Given the description of an element on the screen output the (x, y) to click on. 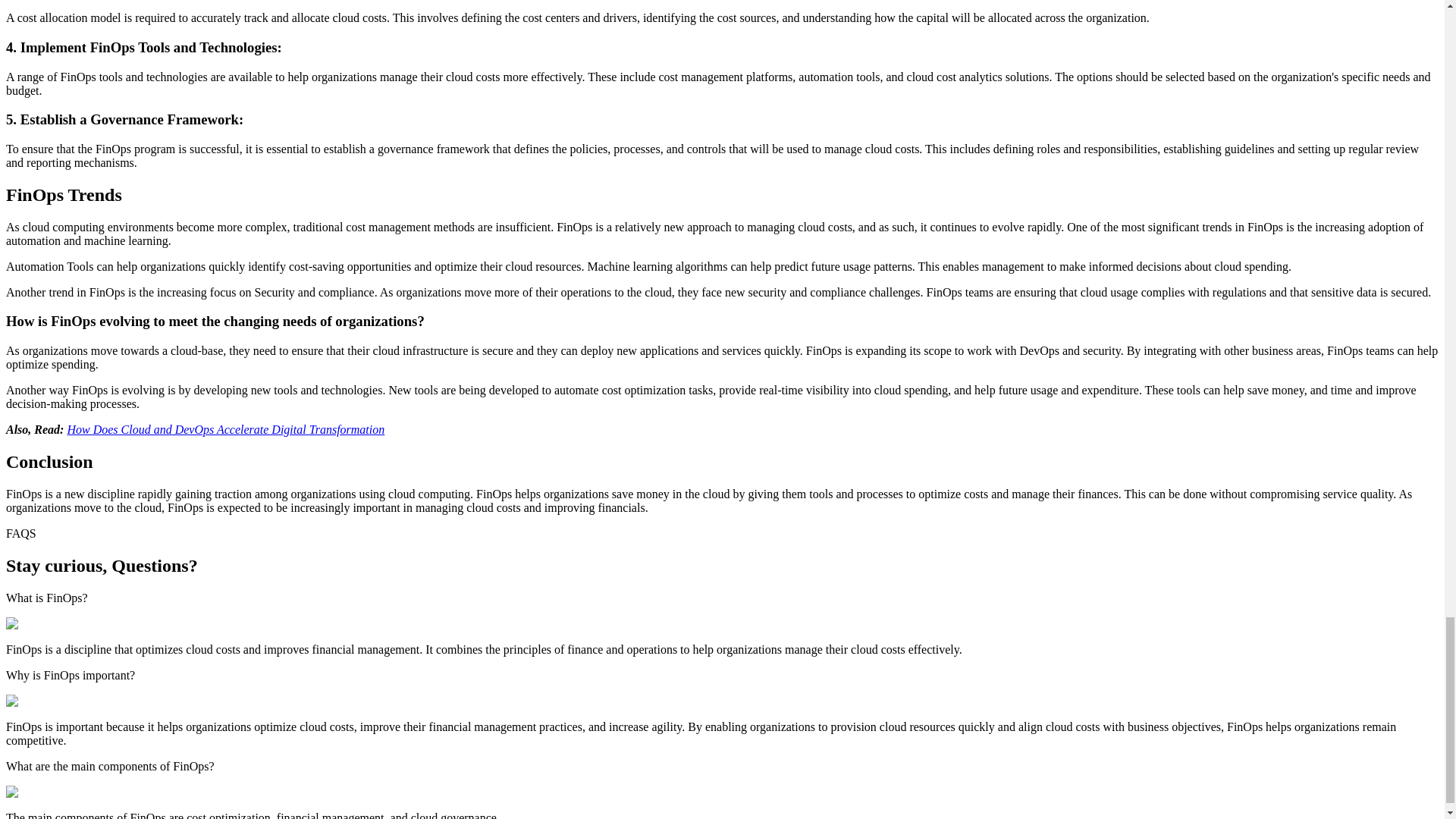
How Does Cloud and DevOps Accelerate Digital Transformation (225, 429)
